Given the description of an element on the screen output the (x, y) to click on. 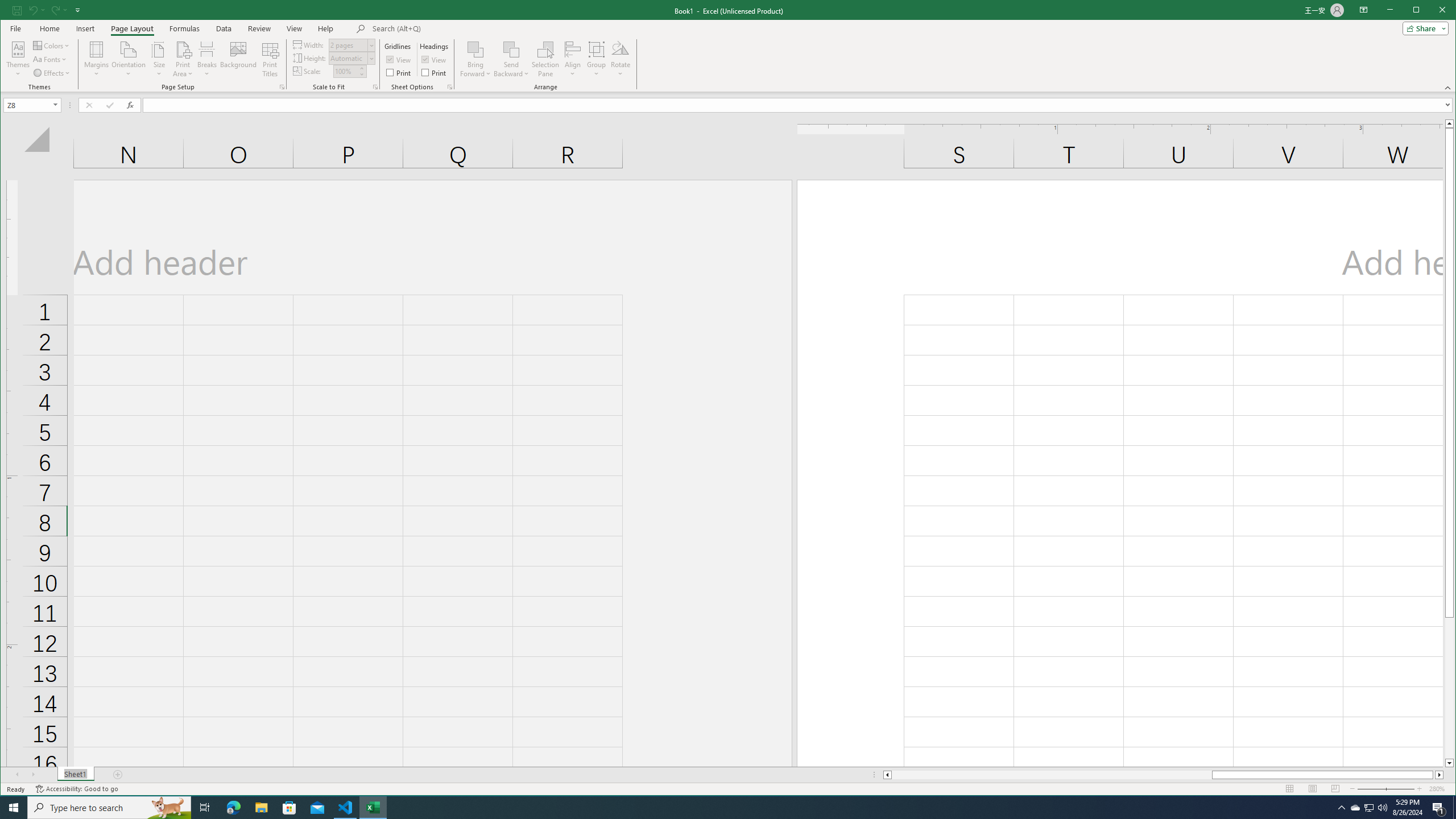
Margins (96, 59)
Microsoft Store (289, 807)
Bring Forward (475, 59)
File Explorer (261, 807)
Orientation (128, 59)
Width (352, 44)
Less (361, 73)
Show desktop (1454, 807)
